Given the description of an element on the screen output the (x, y) to click on. 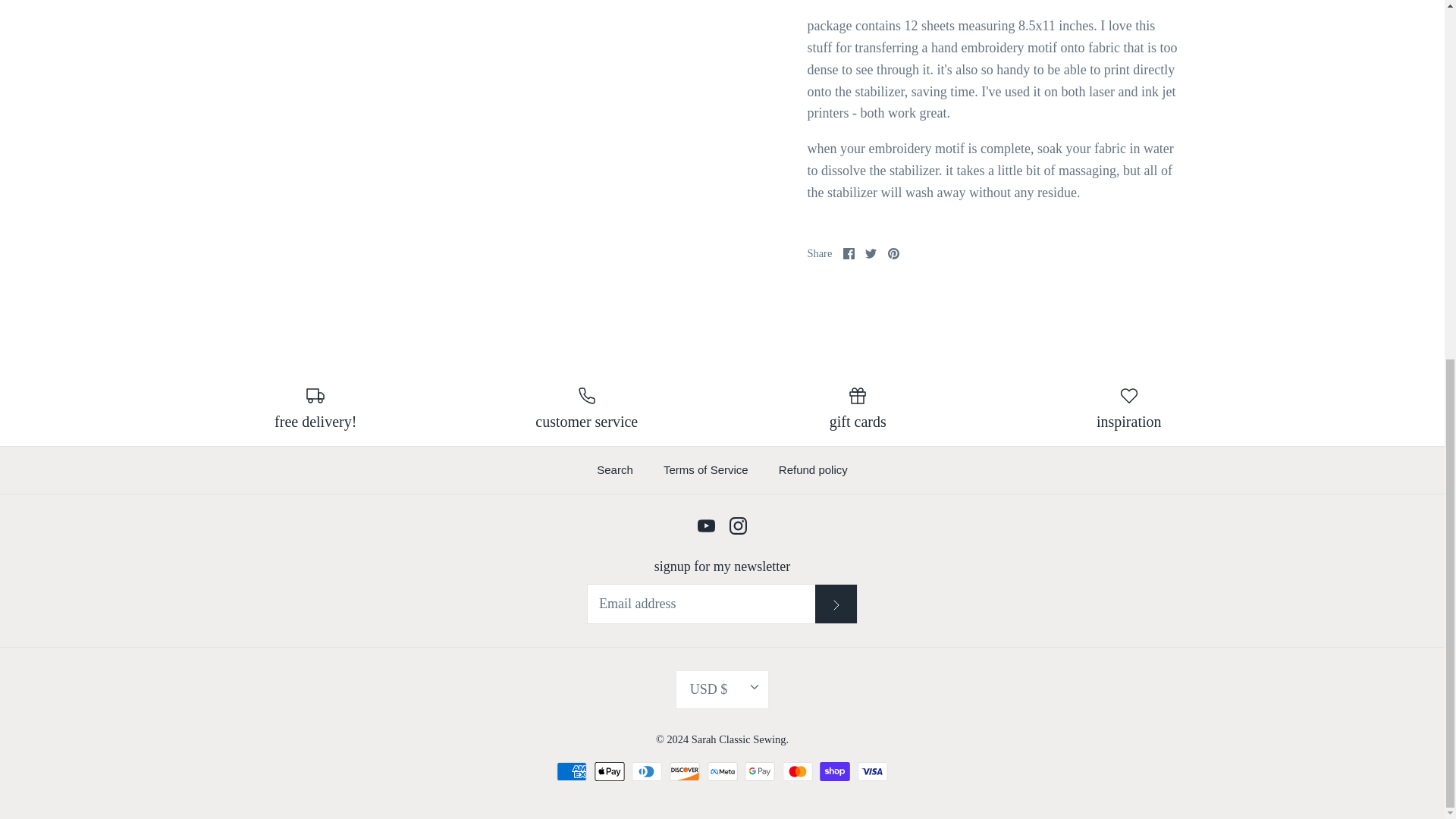
Pinterest (893, 253)
Down (754, 686)
Twitter (870, 253)
Youtube (705, 525)
Facebook (848, 253)
Instagram (737, 525)
American Express (571, 771)
